Given the description of an element on the screen output the (x, y) to click on. 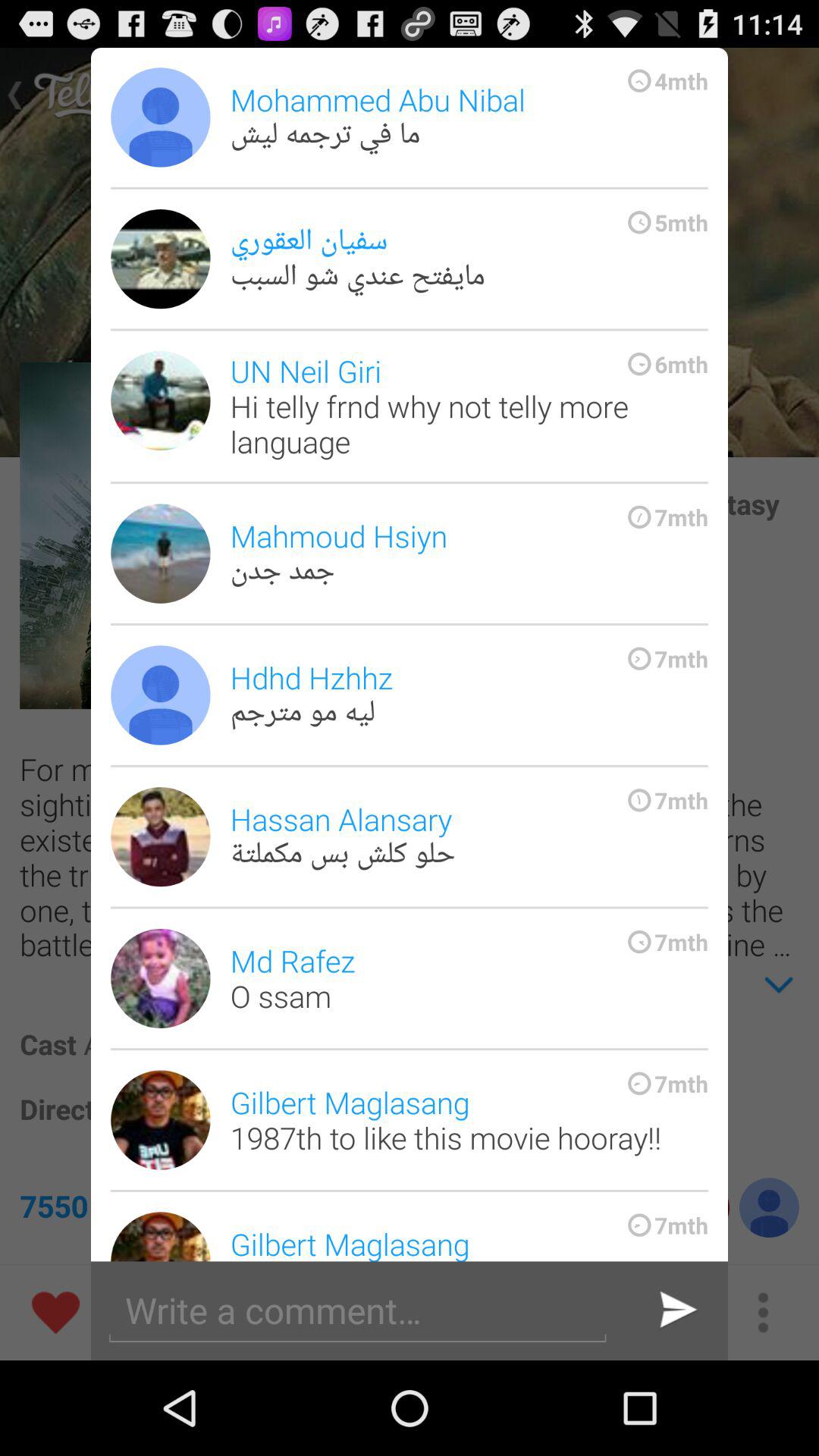
choose the item above the md rafez o item (469, 836)
